Given the description of an element on the screen output the (x, y) to click on. 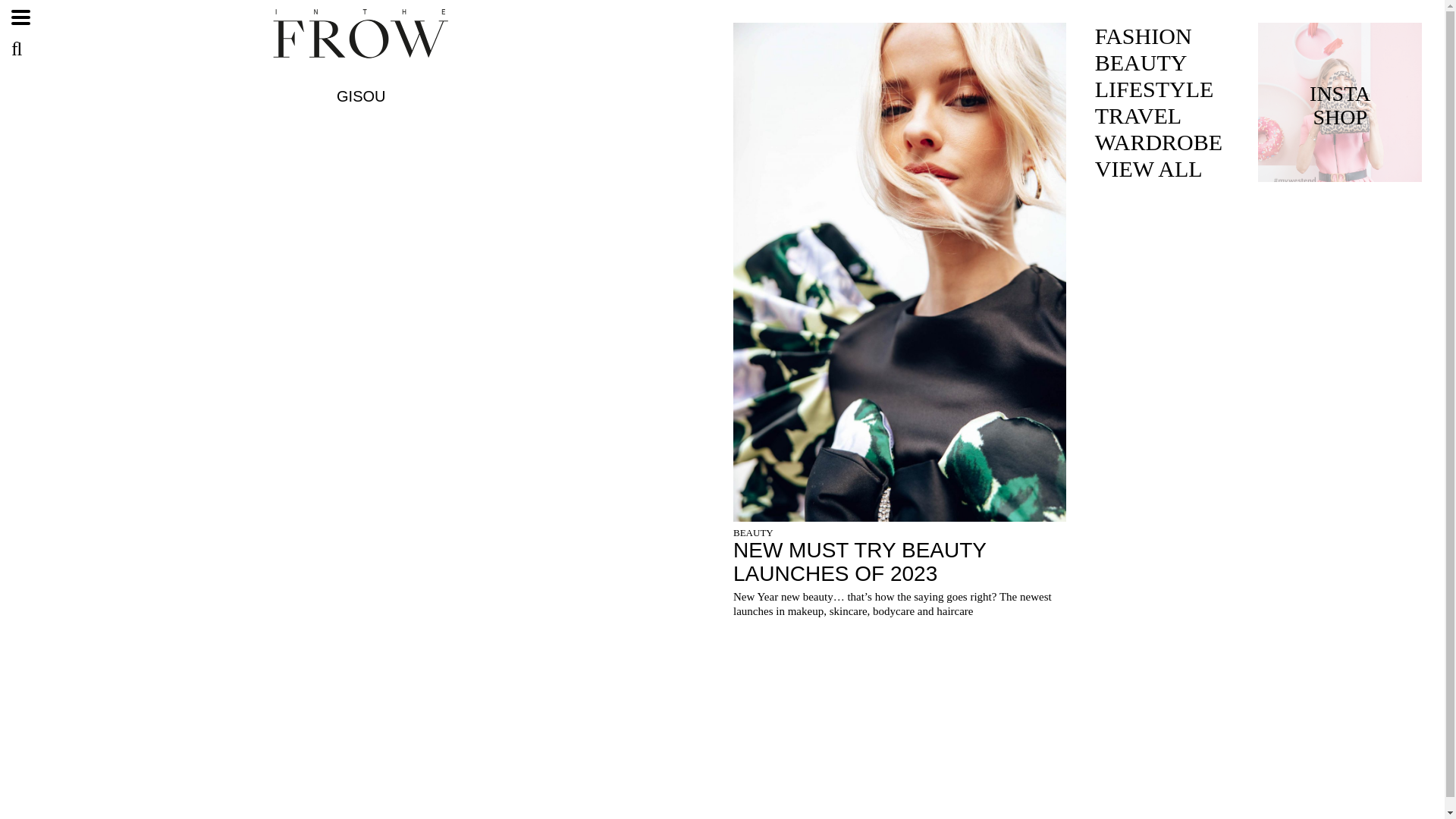
NEW MUST TRY BEAUTY LAUNCHES OF 2023 (899, 562)
WARDROBE (1158, 141)
Inthefrow (360, 55)
FASHION (1158, 35)
Subscribe (854, 514)
INSTA SHOP (1339, 101)
New Must Try Beauty Launches of 2023 (899, 562)
BEAUTY (1158, 62)
BEAUTY (753, 532)
LIFESTYLE (1158, 89)
